Given the description of an element on the screen output the (x, y) to click on. 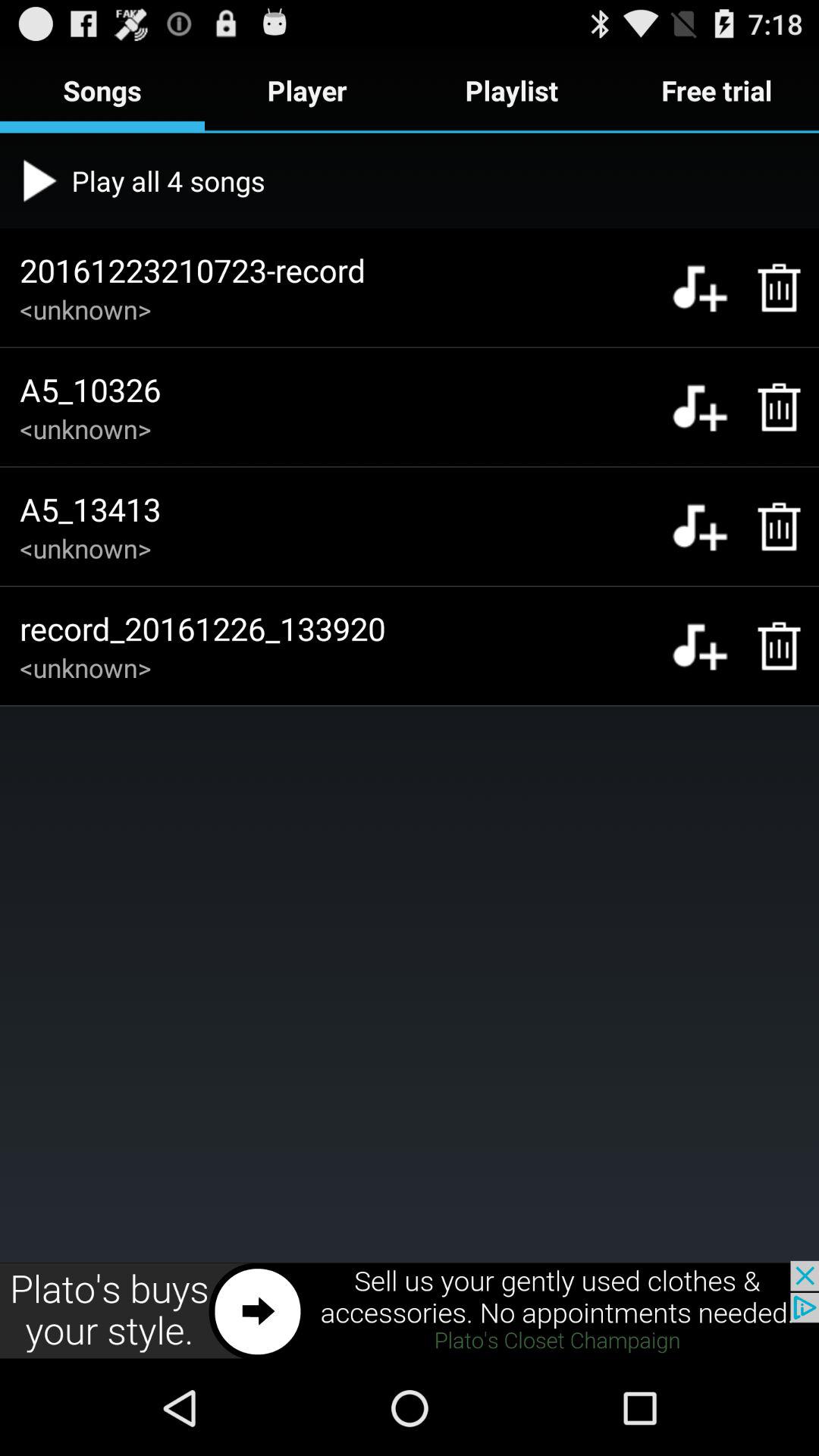
set the ringtone (699, 645)
